Given the description of an element on the screen output the (x, y) to click on. 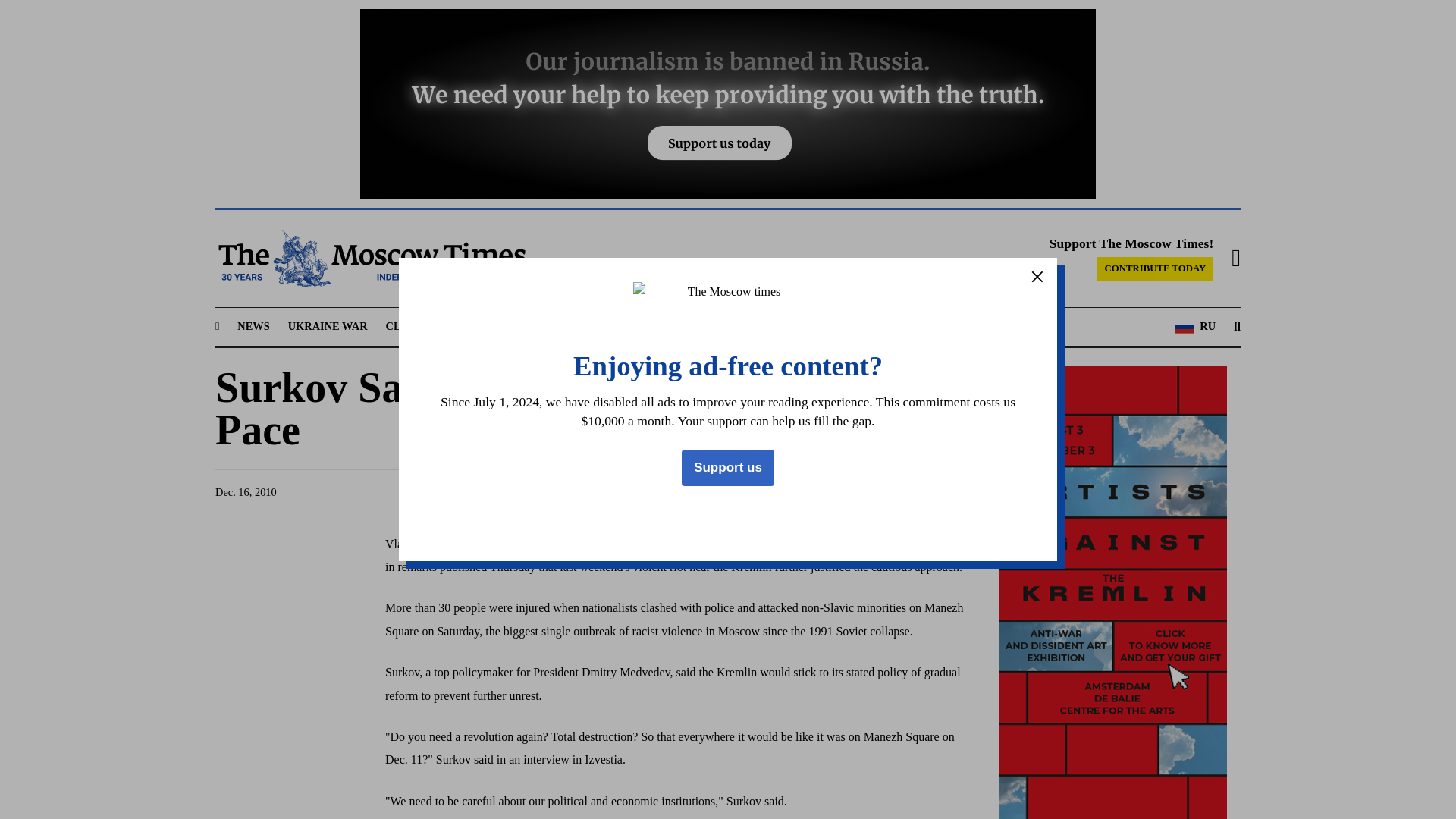
MEANWHILE (629, 326)
OPINION (708, 326)
ARCHIVE (853, 326)
Share on Twitter (810, 492)
UKRAINE WAR (328, 326)
CONTRIBUTE TODAY (1154, 269)
BUSINESS (550, 326)
The Moscow Times - Independent News from Russia (370, 258)
Support us (727, 467)
Share on Telegram (838, 492)
REGIONS (479, 326)
CLIMATE (411, 326)
RU (1194, 326)
Share on Facebook (781, 492)
NEWS (253, 326)
